Given the description of an element on the screen output the (x, y) to click on. 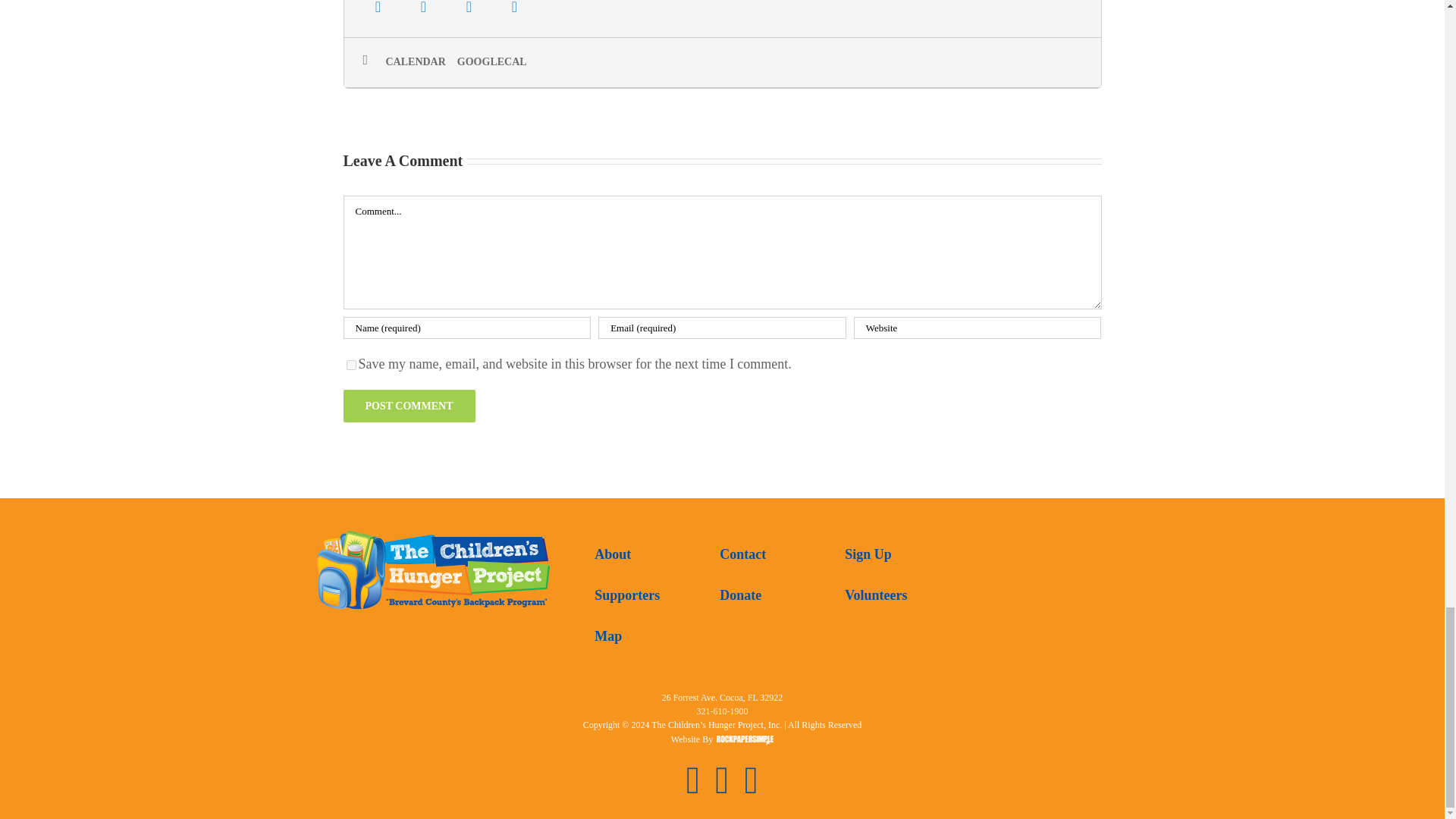
yes (350, 365)
Post Comment (408, 405)
Visit the Rock Paper Simple Website (744, 741)
Add to google calendar (497, 61)
Share on Twitter (423, 12)
Share on facebook (378, 12)
Add to your calendar (421, 61)
Share on Google Plus (468, 7)
